Given the description of an element on the screen output the (x, y) to click on. 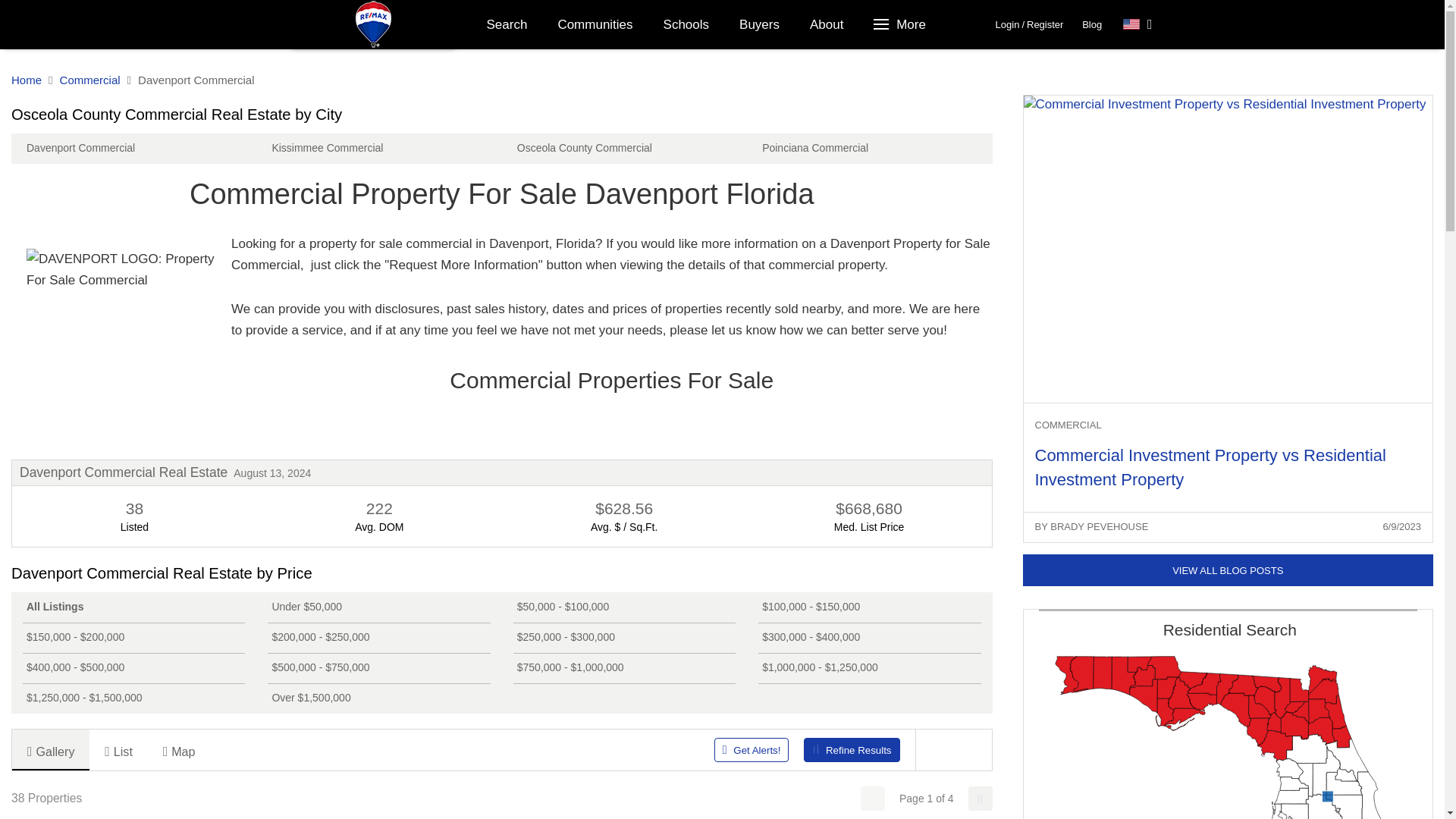
View Davenport Commercial (133, 148)
View Poinciana Commercial (868, 148)
View Kissimmee Commercial  (378, 148)
About (826, 24)
Search (507, 24)
Property For Sale Commercial in Davenport Florida (120, 343)
More (900, 24)
Schools (685, 24)
View Osceola County Commercial (624, 148)
Buyers (758, 24)
